Given the description of an element on the screen output the (x, y) to click on. 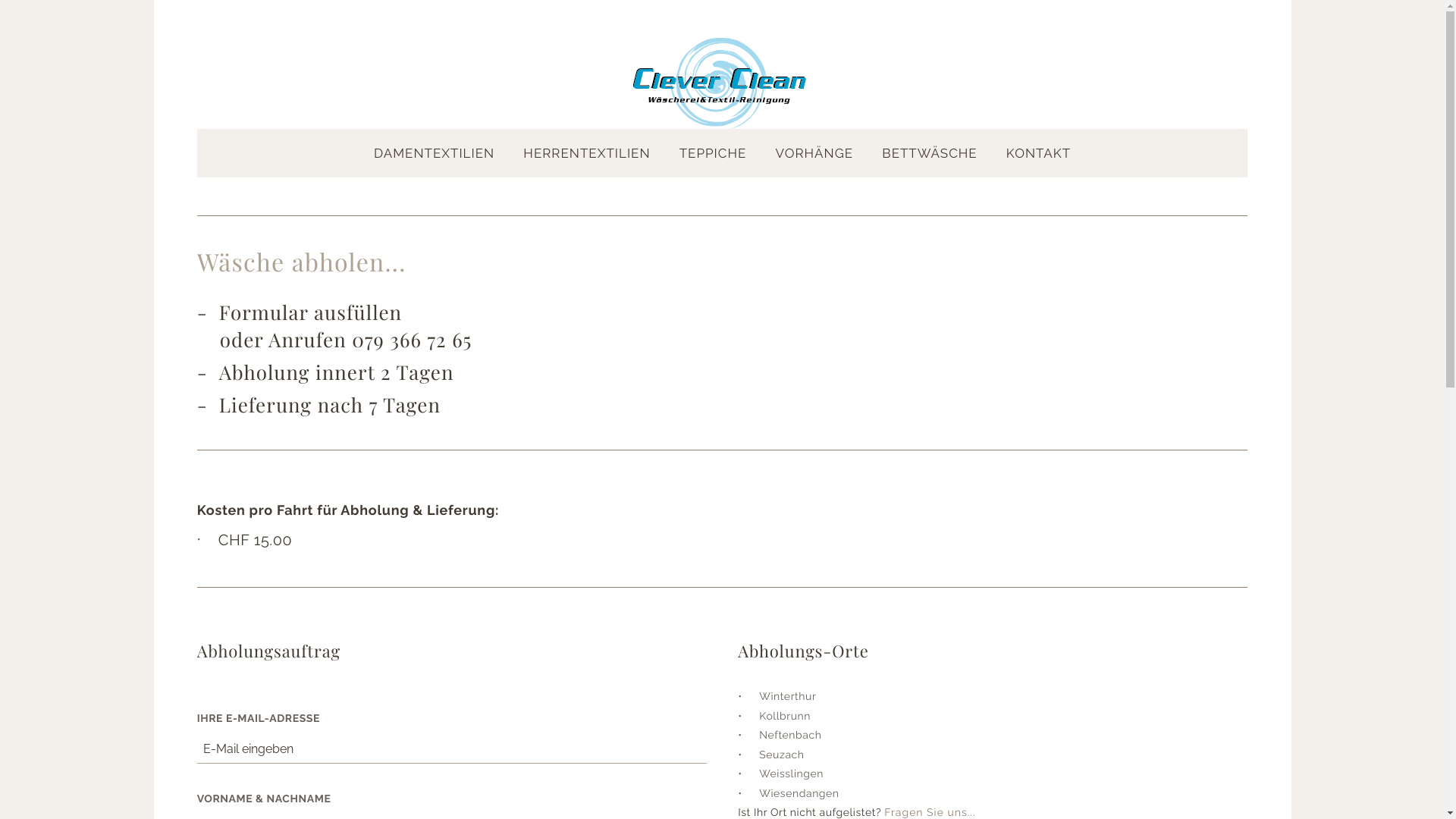
HERRENTEXTILIEN Element type: text (586, 152)
KONTAKT Element type: text (1038, 152)
Clever Clean GmbH Element type: hover (721, 82)
DAMENTEXTILIEN Element type: text (433, 152)
TEPPICHE Element type: text (712, 152)
